Given the description of an element on the screen output the (x, y) to click on. 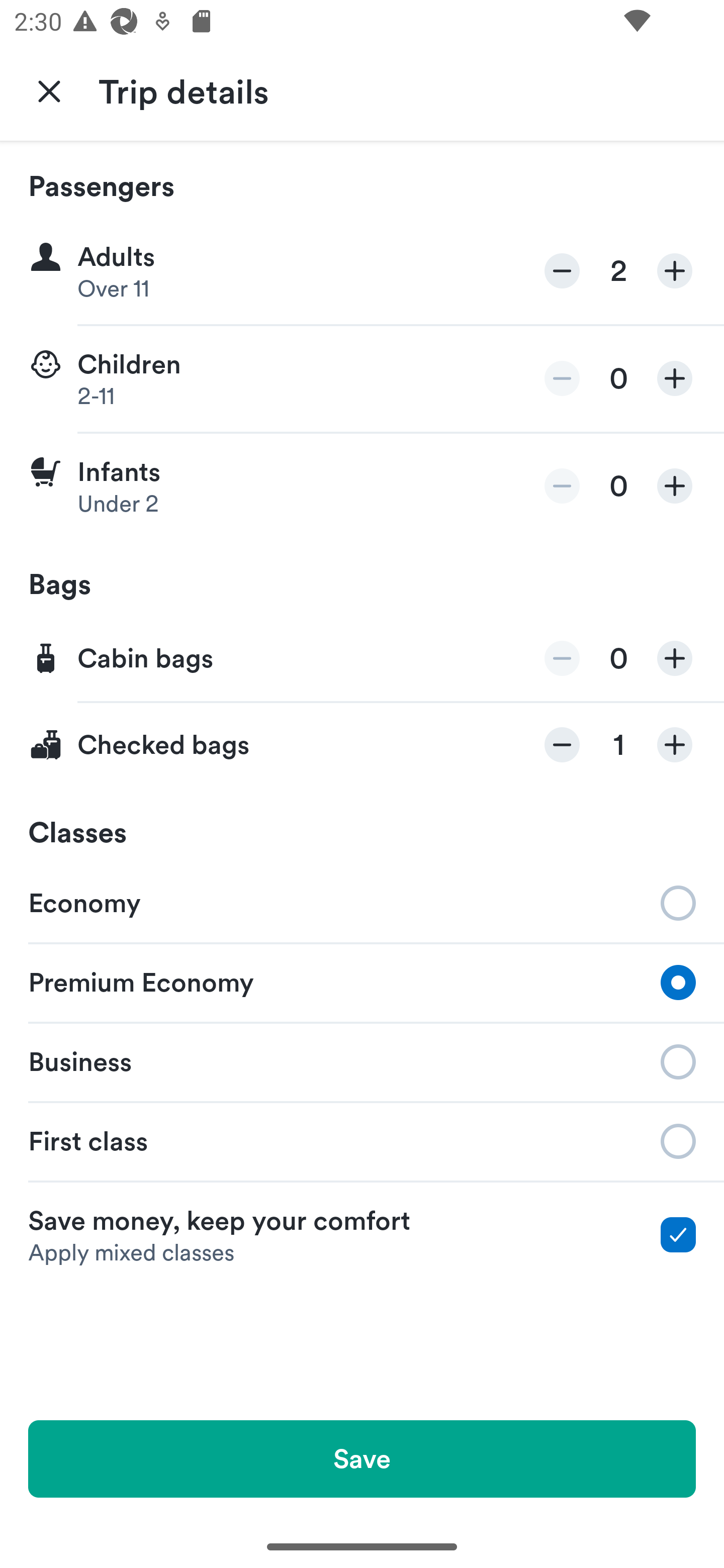
Navigate up (49, 90)
Remove 2 Add Adults Over 11 (362, 271)
Remove (561, 270)
Add (674, 270)
Remove 0 Add Children 2-11 (362, 379)
Remove (561, 377)
Add (674, 377)
Remove 0 Add Infants Under 2 (362, 485)
Remove (561, 485)
Add (674, 485)
Remove 0 Add Cabin bags (362, 659)
Remove (561, 658)
Add (674, 658)
Remove 1 Add Checked bags (362, 744)
Remove (561, 744)
Add (674, 744)
Economy (362, 901)
Business (362, 1060)
First class (362, 1141)
Save (361, 1458)
